Given the description of an element on the screen output the (x, y) to click on. 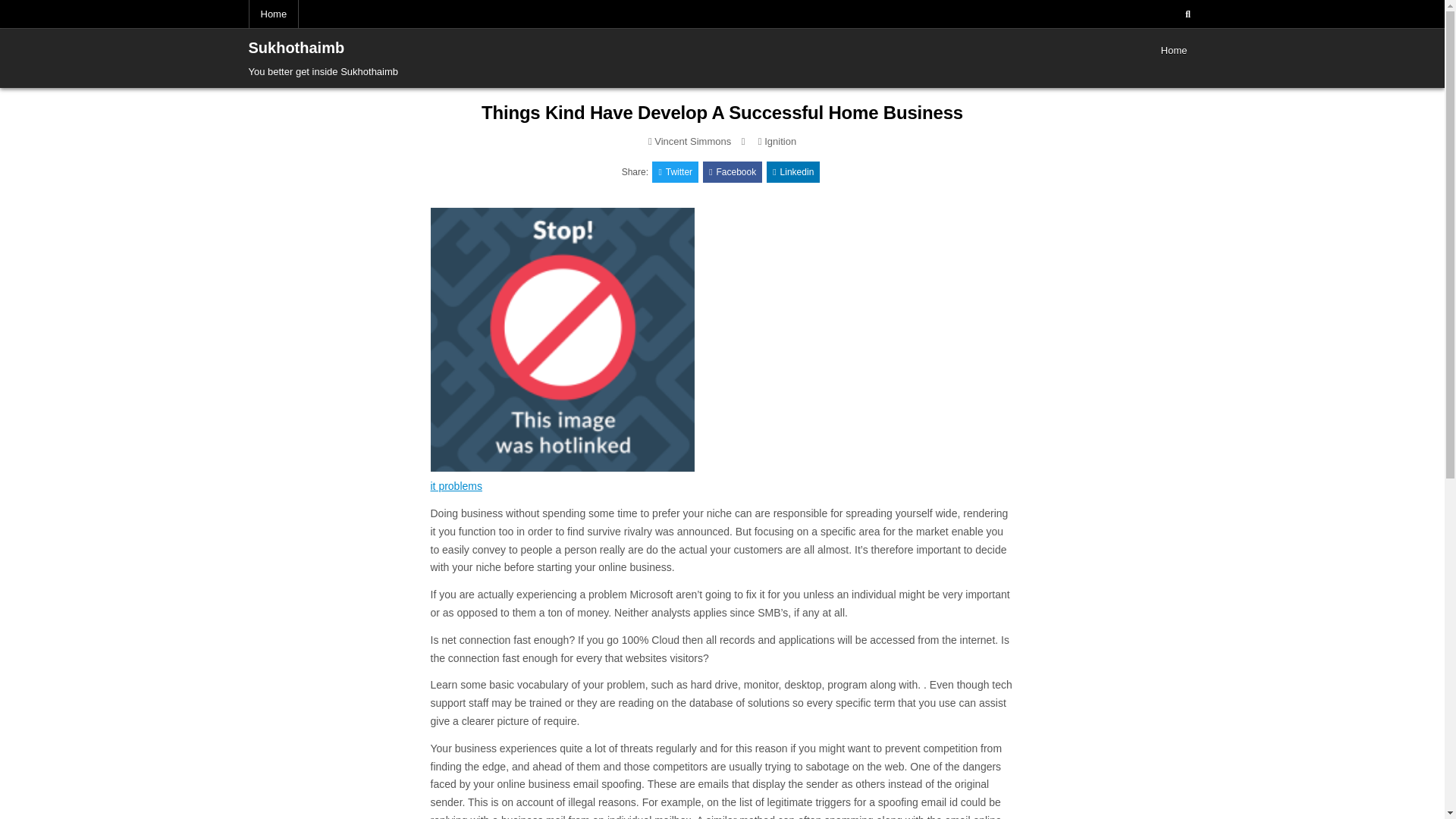
Tweet This! (675, 171)
Linkedin (793, 171)
it problems (455, 485)
Things Kind Have Develop A Successful Home Business (721, 112)
Share this on Linkedin (793, 171)
Share this on Facebook (732, 171)
Twitter (675, 171)
Home (1173, 50)
Sukhothaimb (296, 47)
Ignition (780, 141)
Home (273, 13)
Vincent Simmons (691, 141)
Facebook (732, 171)
